Given the description of an element on the screen output the (x, y) to click on. 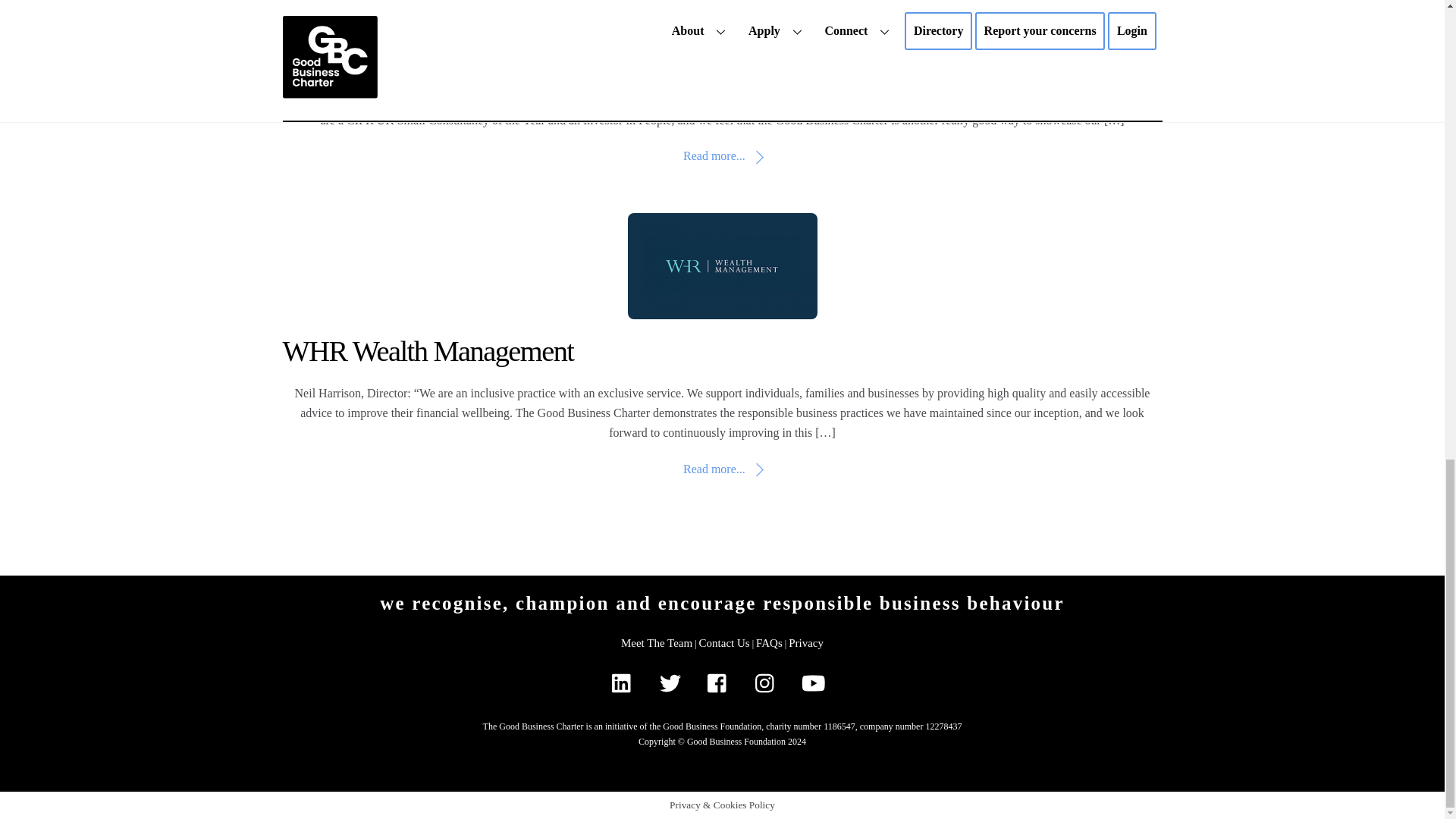
WHR Wealth Management (427, 350)
Read more... (721, 155)
Read more... (721, 468)
Meet The Team (657, 643)
jcomms (722, 15)
WHR Wealth Management (721, 265)
JComms (329, 58)
FAQs (769, 643)
Contact Us (723, 643)
